Given the description of an element on the screen output the (x, y) to click on. 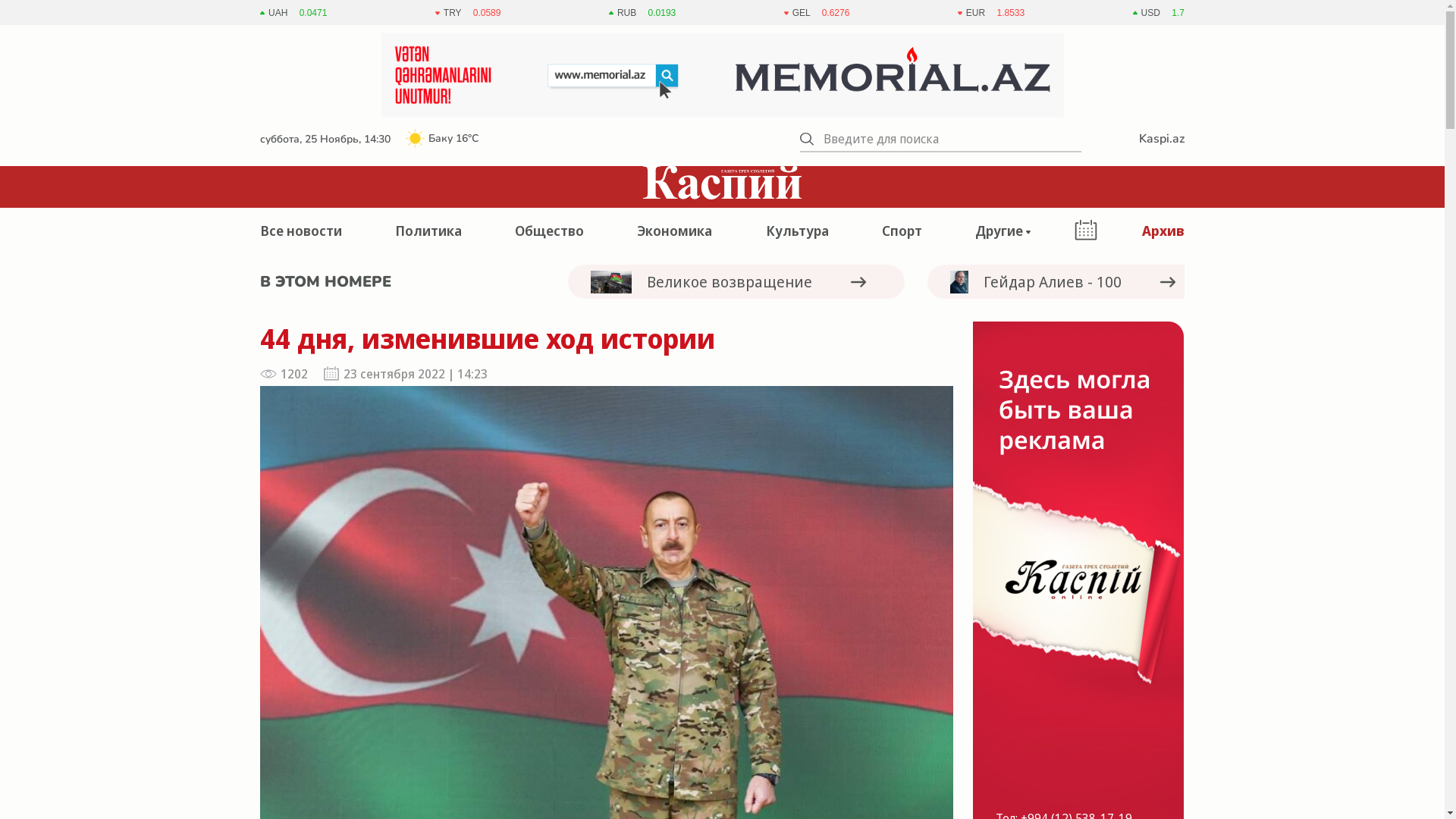
Kaspi.az Element type: text (1155, 138)
